Given the description of an element on the screen output the (x, y) to click on. 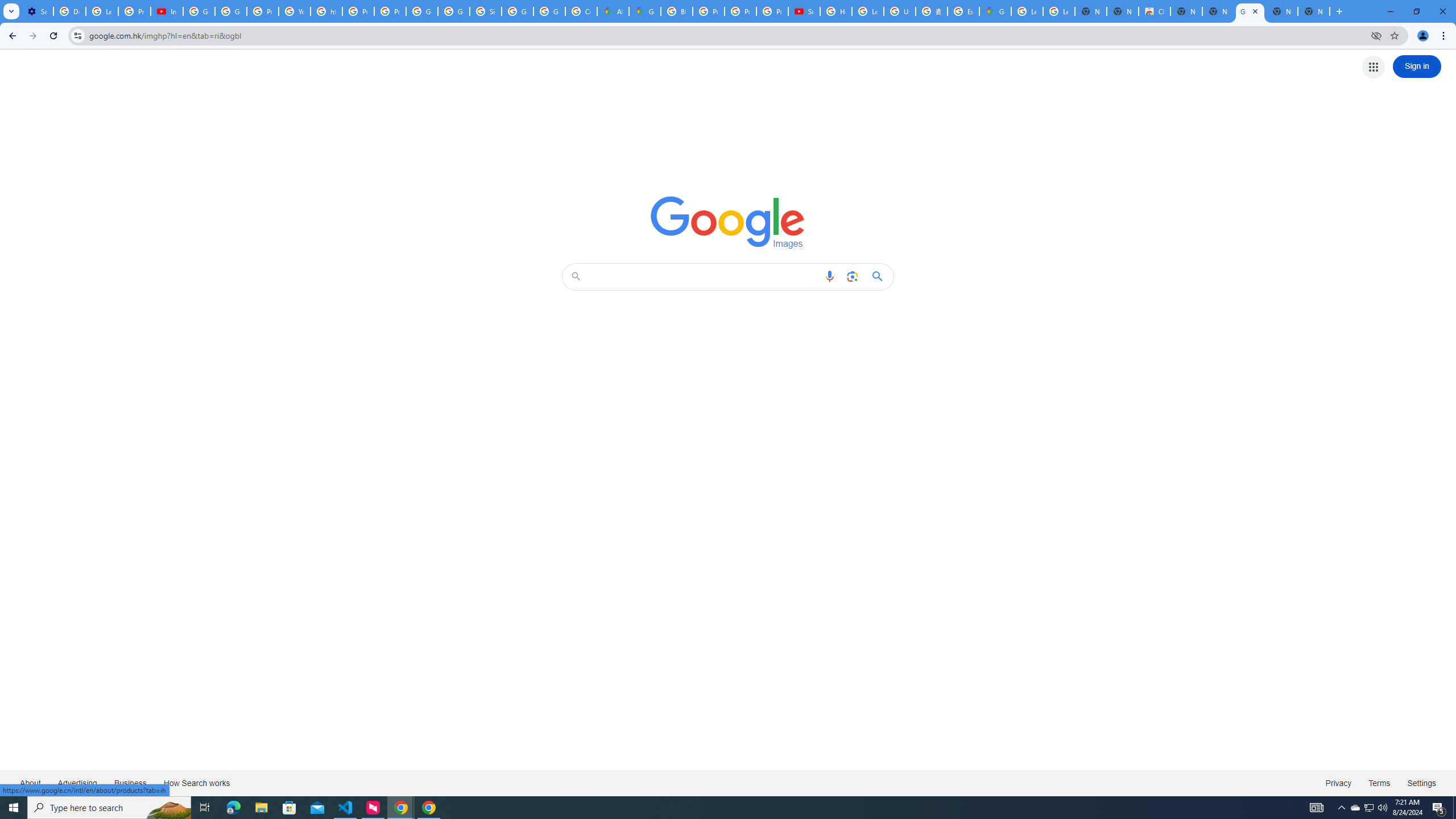
Google Maps (644, 11)
Google Images (1249, 11)
Blogger Policies and Guidelines - Transparency Center (676, 11)
Subscriptions - YouTube (804, 11)
